Given the description of an element on the screen output the (x, y) to click on. 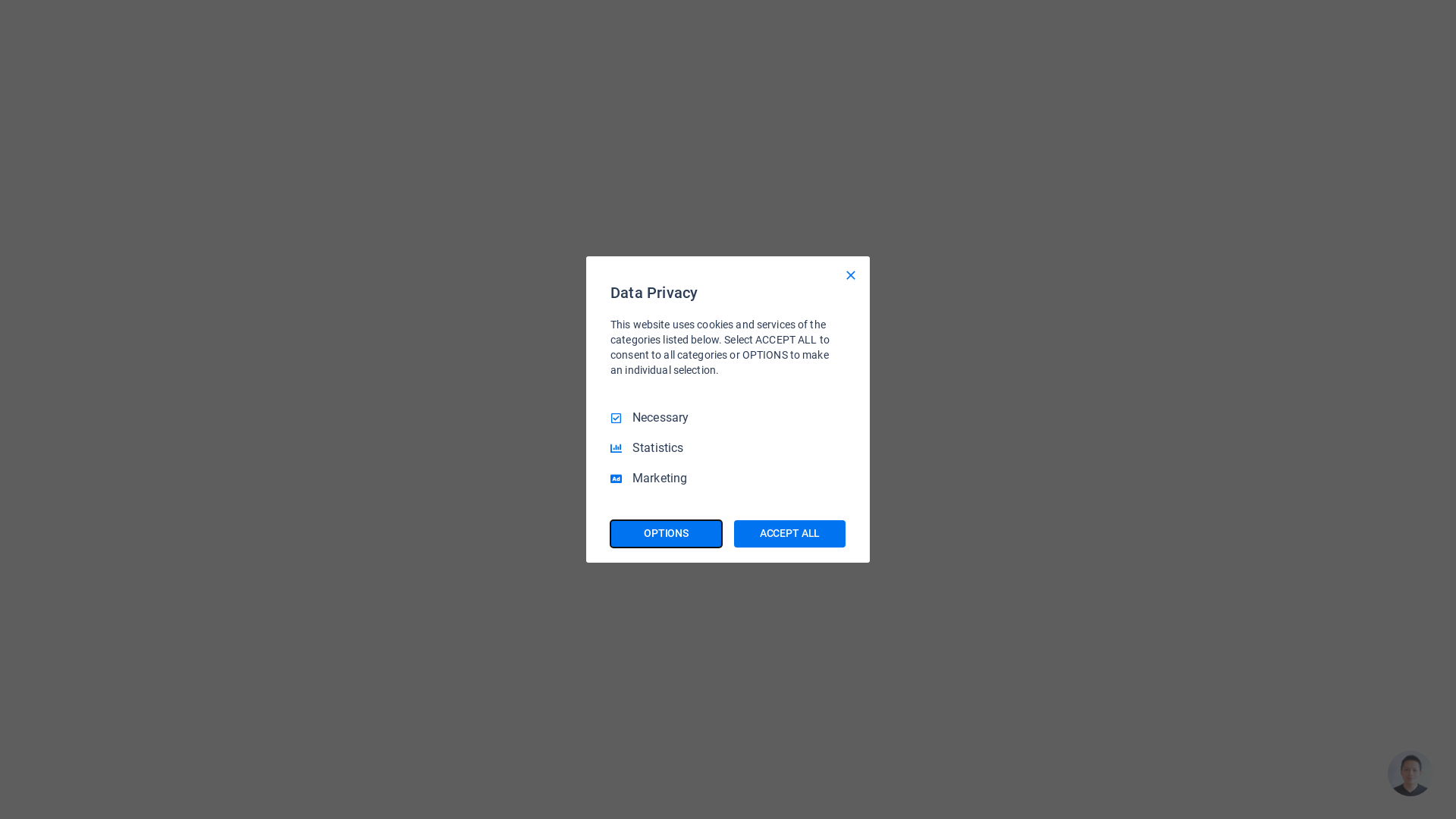
OPTIONS Element type: text (665, 533)
ACCEPT ALL Element type: text (789, 533)
